Given the description of an element on the screen output the (x, y) to click on. 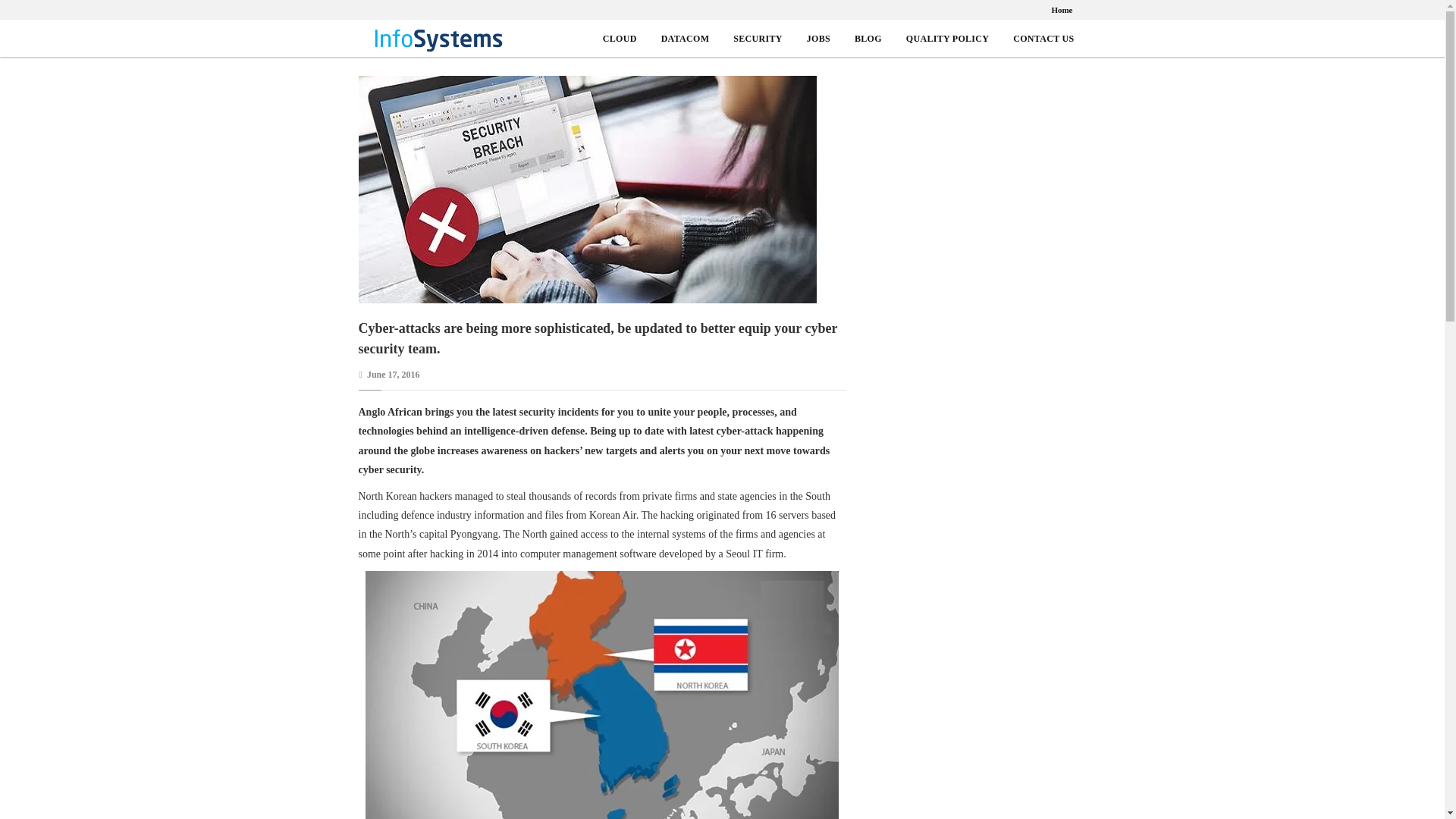
CLOUD (619, 38)
DATACOM (685, 38)
QUALITY POLICY (946, 38)
BLOG (868, 38)
CONTACT US (1043, 38)
Home (1061, 9)
SECURITY (757, 38)
JOBS (817, 38)
